Given the description of an element on the screen output the (x, y) to click on. 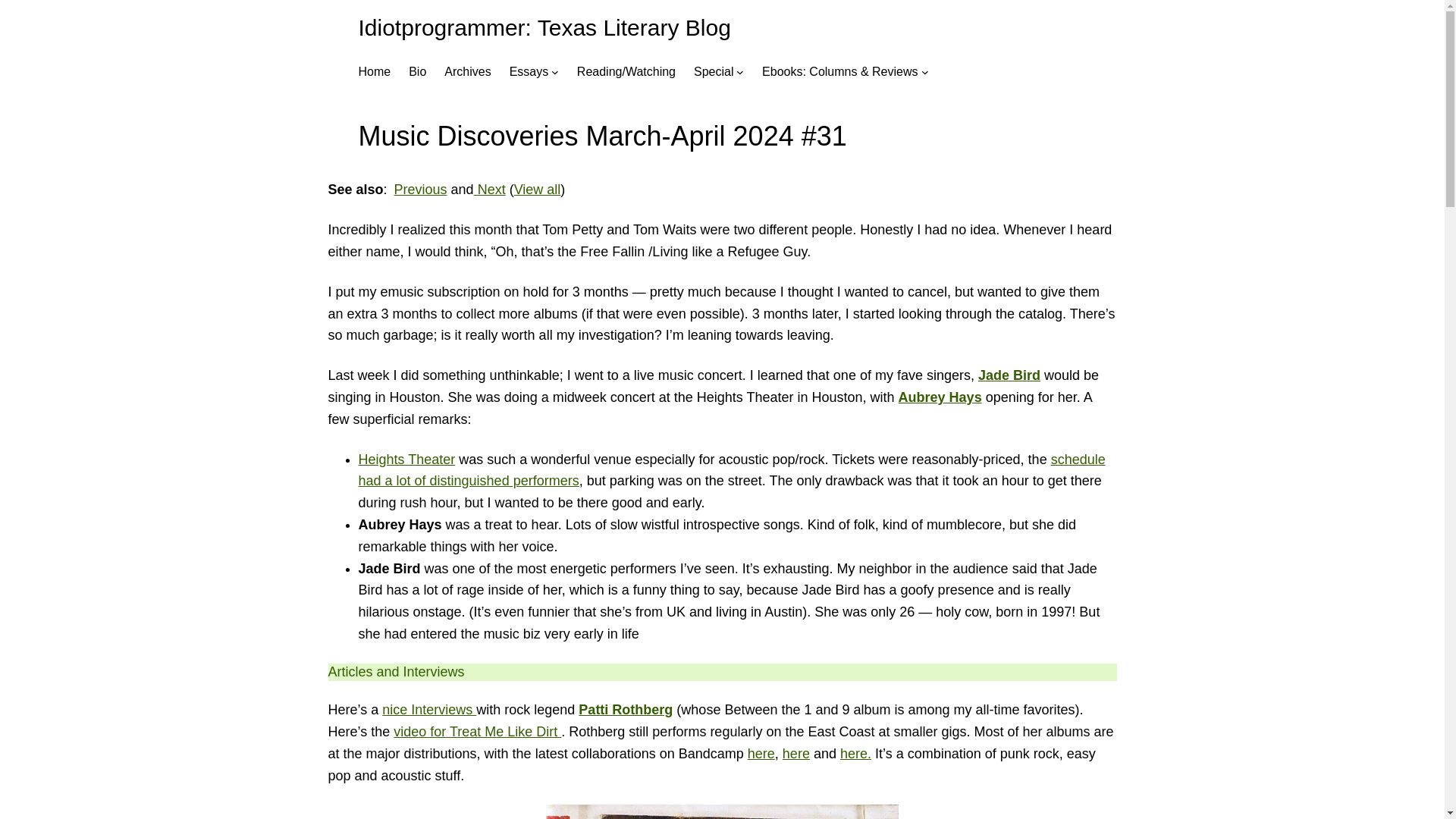
schedule had a lot of distinguished performers (731, 470)
here (761, 753)
About Robert Nagle: A Biographical Sketch (417, 71)
here (796, 753)
Home (374, 71)
Bio (417, 71)
Jade Bird (1009, 375)
Patti Rothberg (625, 709)
Next (489, 189)
Aubrey Hays (939, 396)
nice Interviews (428, 709)
Idiotprogrammer: Texas Literary Blog (544, 27)
here. (855, 753)
Heights Theater (406, 459)
Archives (467, 71)
